Given the description of an element on the screen output the (x, y) to click on. 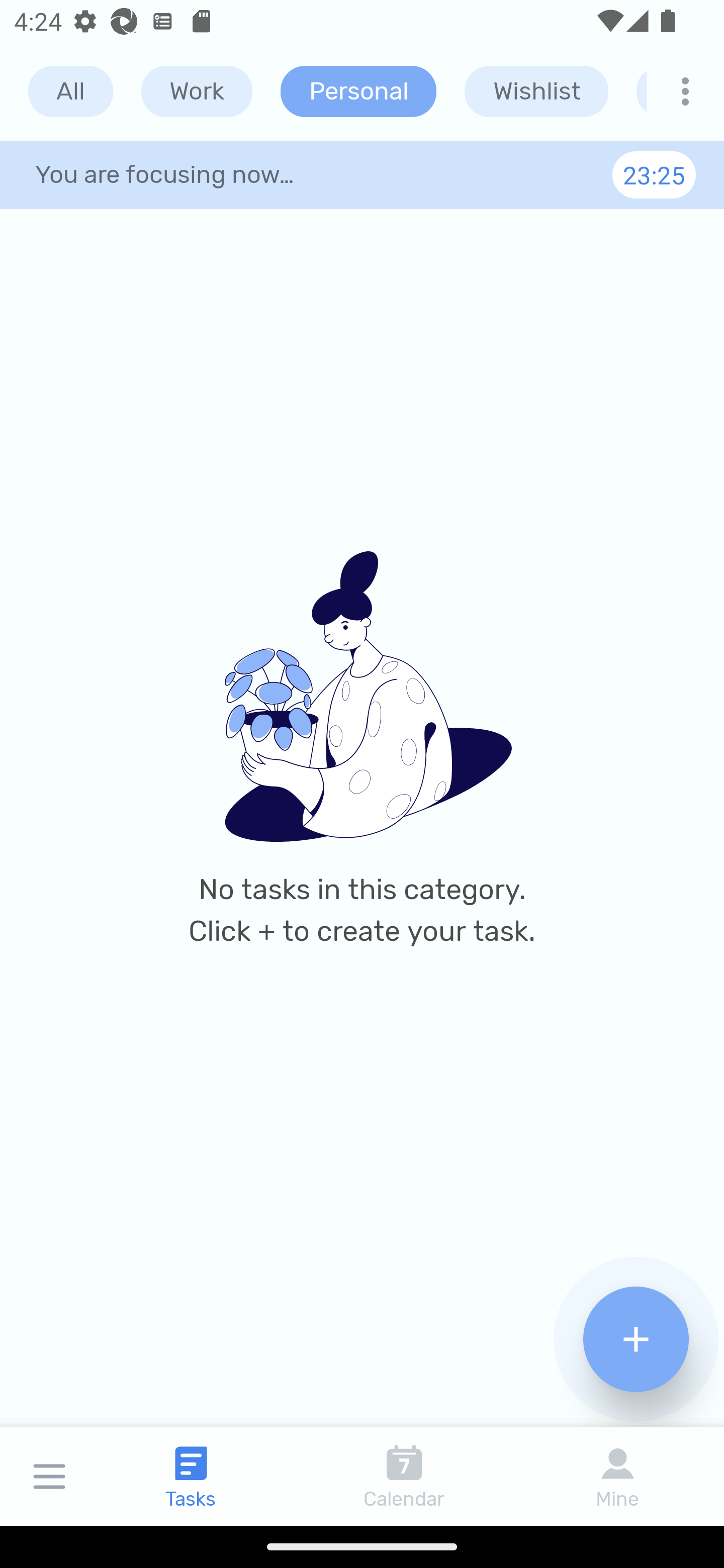
All (70, 91)
Work (196, 91)
Personal (358, 91)
Wishlist (536, 91)
You are focusing now… 23:25 (362, 174)
Tasks (190, 1475)
Calendar (404, 1475)
Mine (617, 1475)
